Given the description of an element on the screen output the (x, y) to click on. 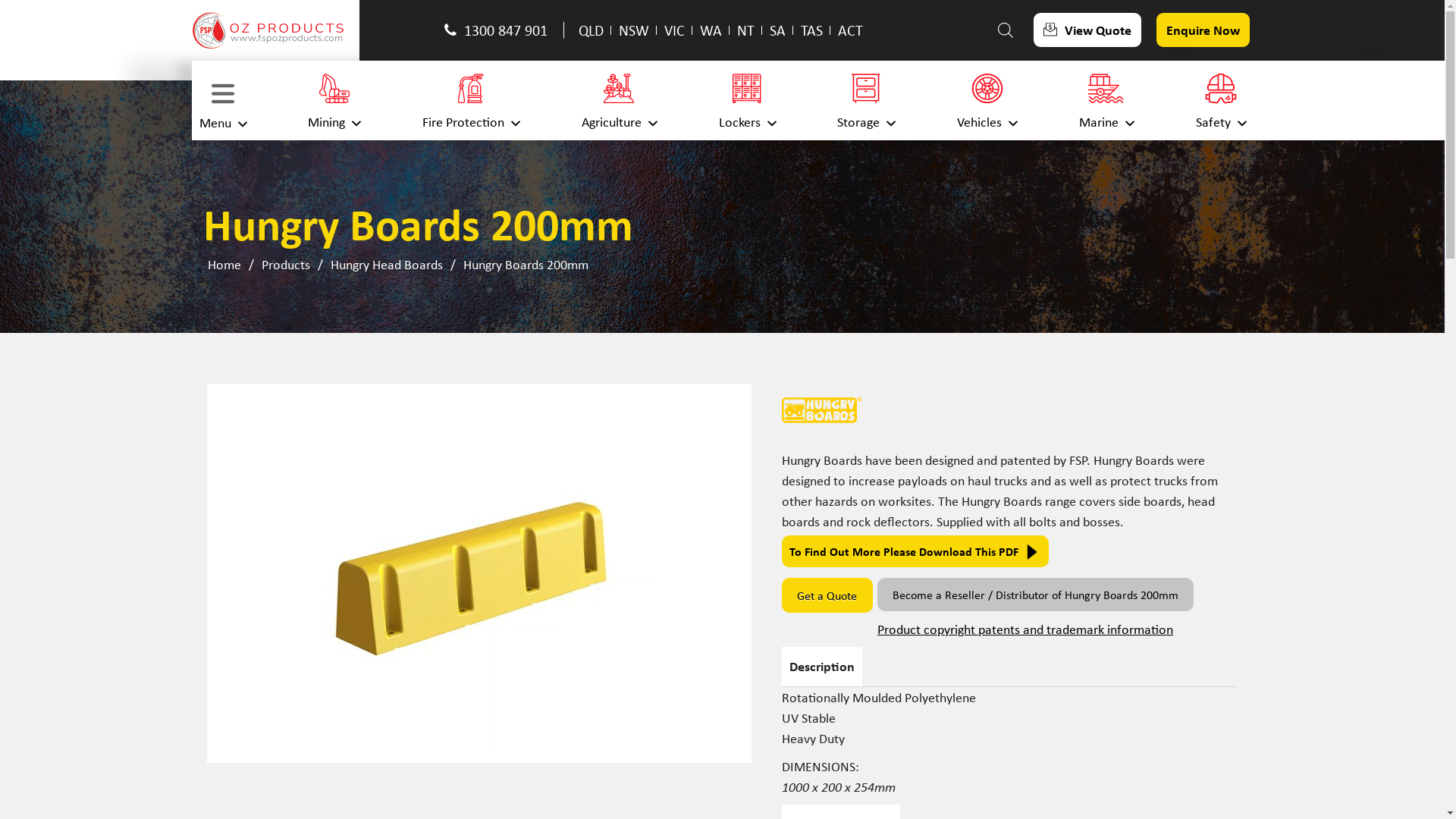
Safety Element type: text (1219, 99)
View Quote Element type: text (1087, 29)
Get a Quote Element type: text (826, 595)
To Find Out More Please Download This PDF Element type: text (914, 551)
QLD Element type: text (590, 29)
Agriculture Element type: text (619, 99)
SA Element type: text (777, 29)
NSW Element type: text (633, 29)
Menu Element type: text (222, 100)
Lockers Element type: text (747, 99)
Fire Protection Element type: text (470, 99)
Products Element type: text (285, 263)
Hungry Head Boards Element type: text (385, 263)
ACT Element type: text (849, 29)
Mining Element type: text (333, 99)
  1300 847 901 Element type: text (500, 29)
Marine Element type: text (1106, 99)
WA Element type: text (710, 29)
Product copyright patents and trademark information Element type: text (1055, 632)
Vehicles Element type: text (986, 99)
Storage Element type: text (865, 99)
Enquire Now Element type: text (1202, 29)
TAS Element type: text (811, 29)
FSP-200mm-BOARDS.jpg Element type: hover (478, 572)
VIC Element type: text (674, 29)
NT Element type: text (745, 29)
Home Element type: text (223, 263)
Description Element type: text (821, 666)
